Given the description of an element on the screen output the (x, y) to click on. 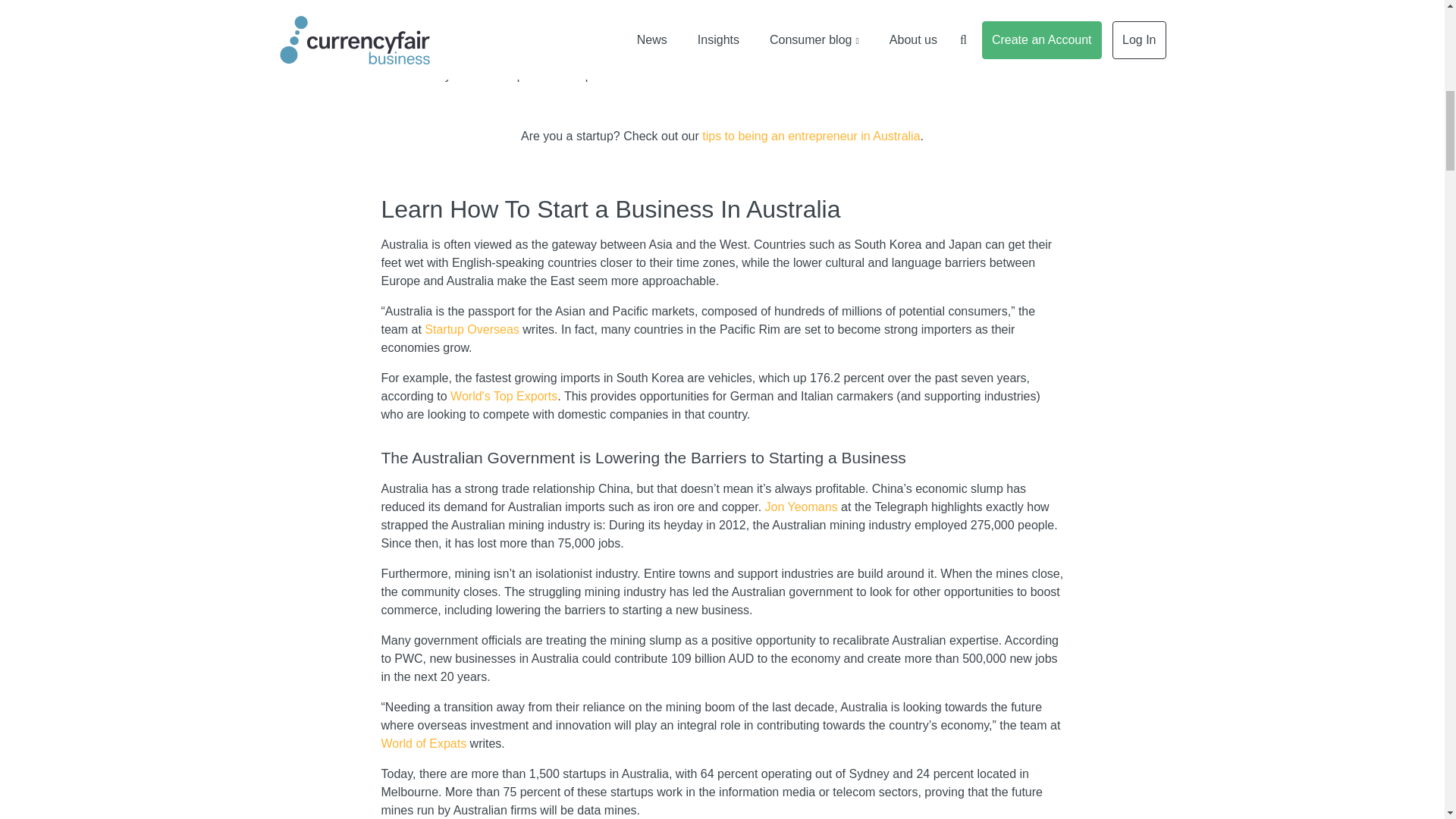
Jon Yeomans (801, 506)
World's Top Exports (503, 395)
World of Expats (422, 743)
tips to being an entrepreneur in Australia (810, 135)
Startup Overseas (472, 328)
